Given the description of an element on the screen output the (x, y) to click on. 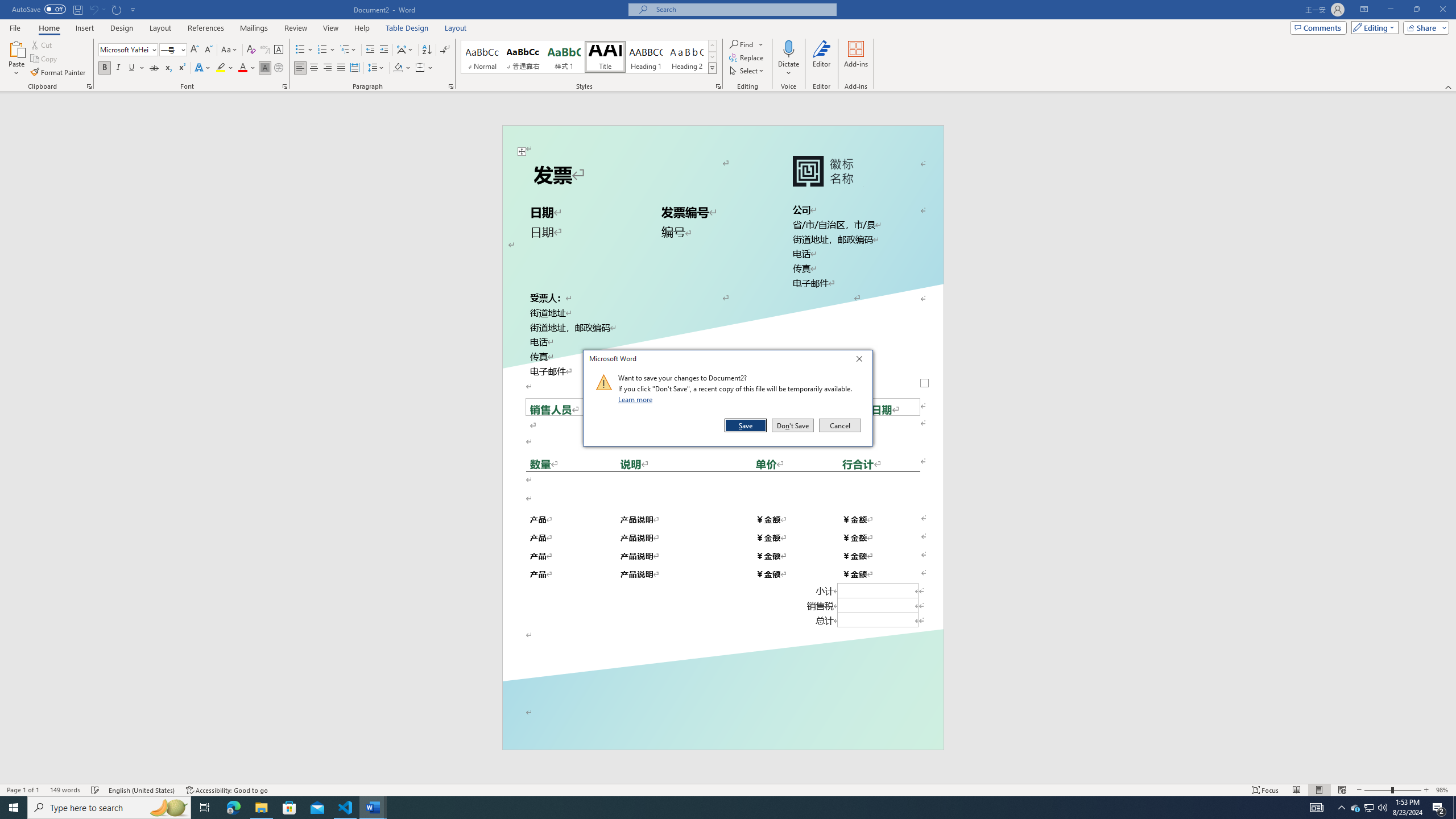
Don't Save (792, 425)
Insert (83, 28)
Comments (1318, 27)
System (6, 6)
Text Effects and Typography (202, 67)
Print Layout (1318, 790)
Sort... (426, 49)
Running applications (717, 807)
Design (122, 28)
Format Painter (58, 72)
Font (124, 49)
Enclose Characters... (278, 67)
Zoom 98% (1443, 790)
